Given the description of an element on the screen output the (x, y) to click on. 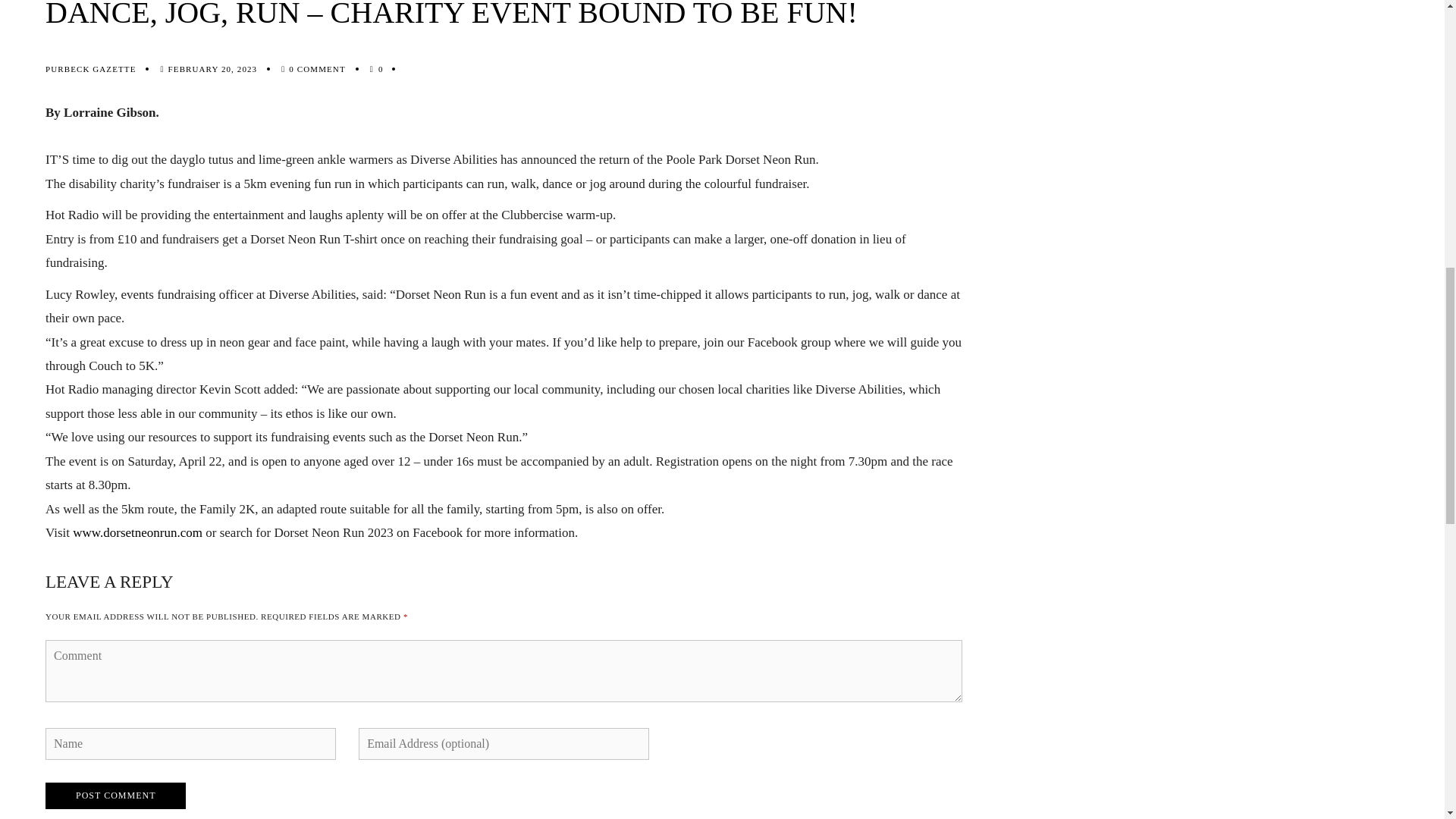
Posts by Purbeck Gazette (90, 68)
Post Comment (115, 795)
Like (380, 68)
